Given the description of an element on the screen output the (x, y) to click on. 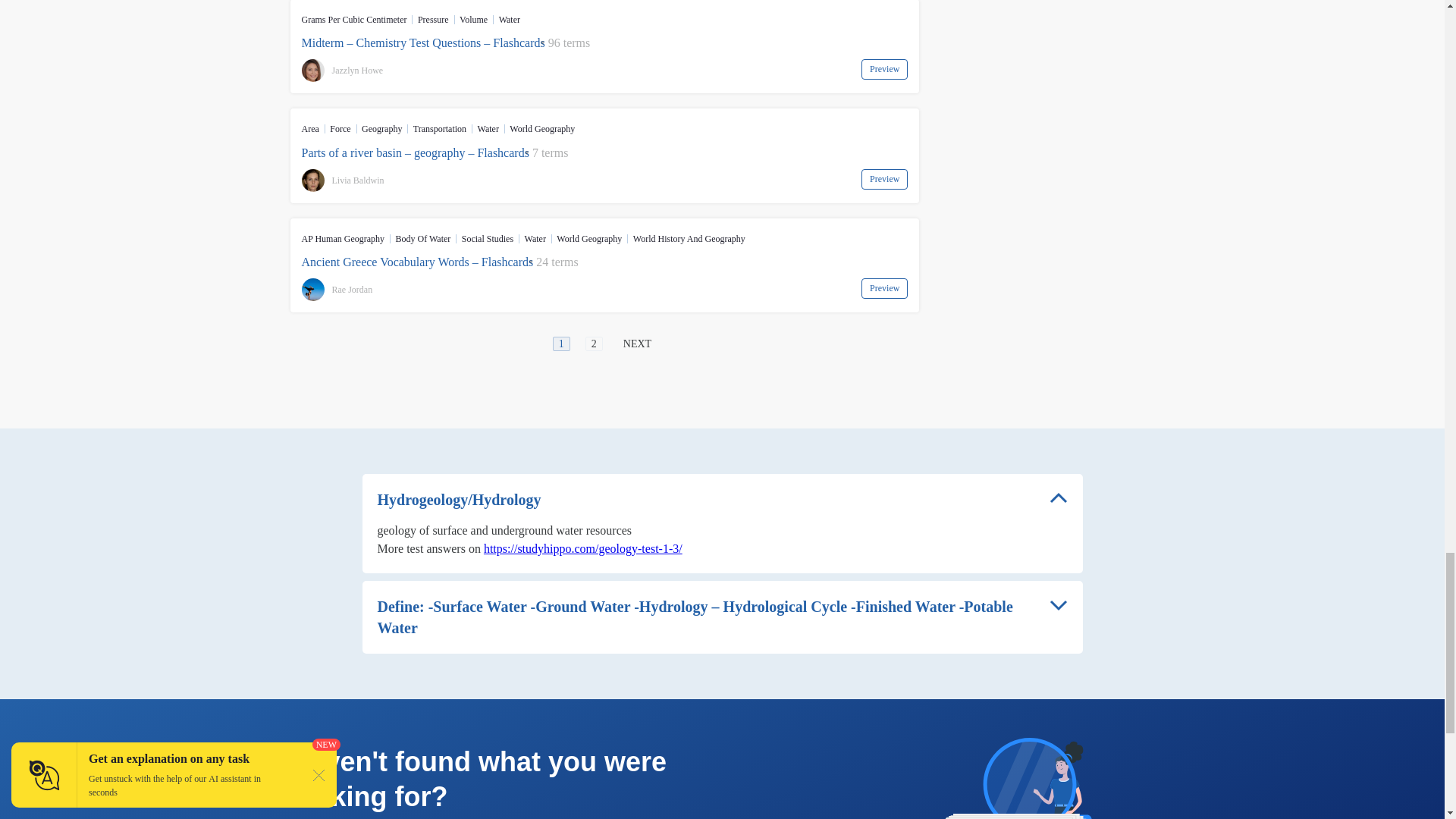
2 (593, 343)
